Given the description of an element on the screen output the (x, y) to click on. 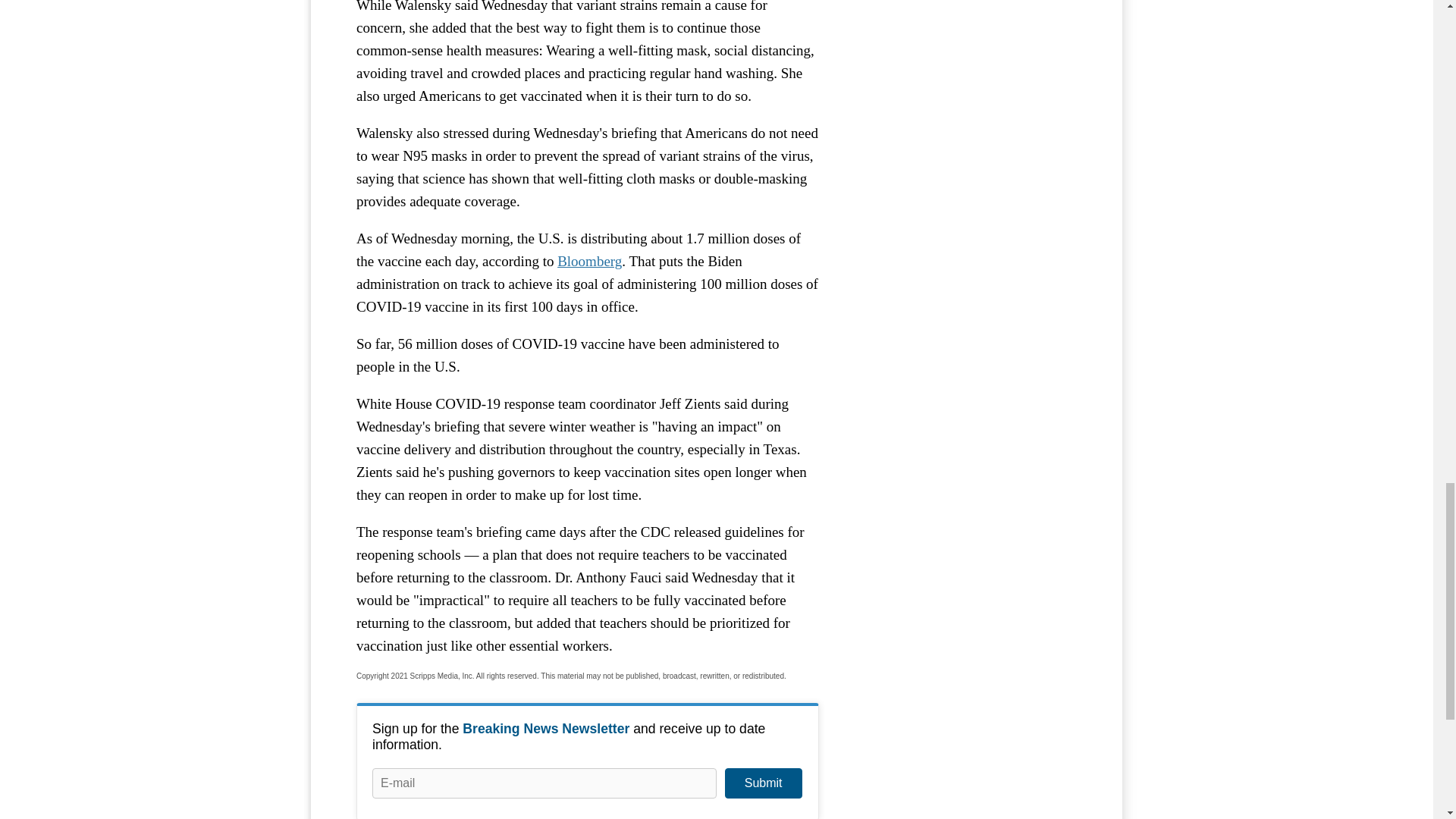
Submit (763, 783)
